Given the description of an element on the screen output the (x, y) to click on. 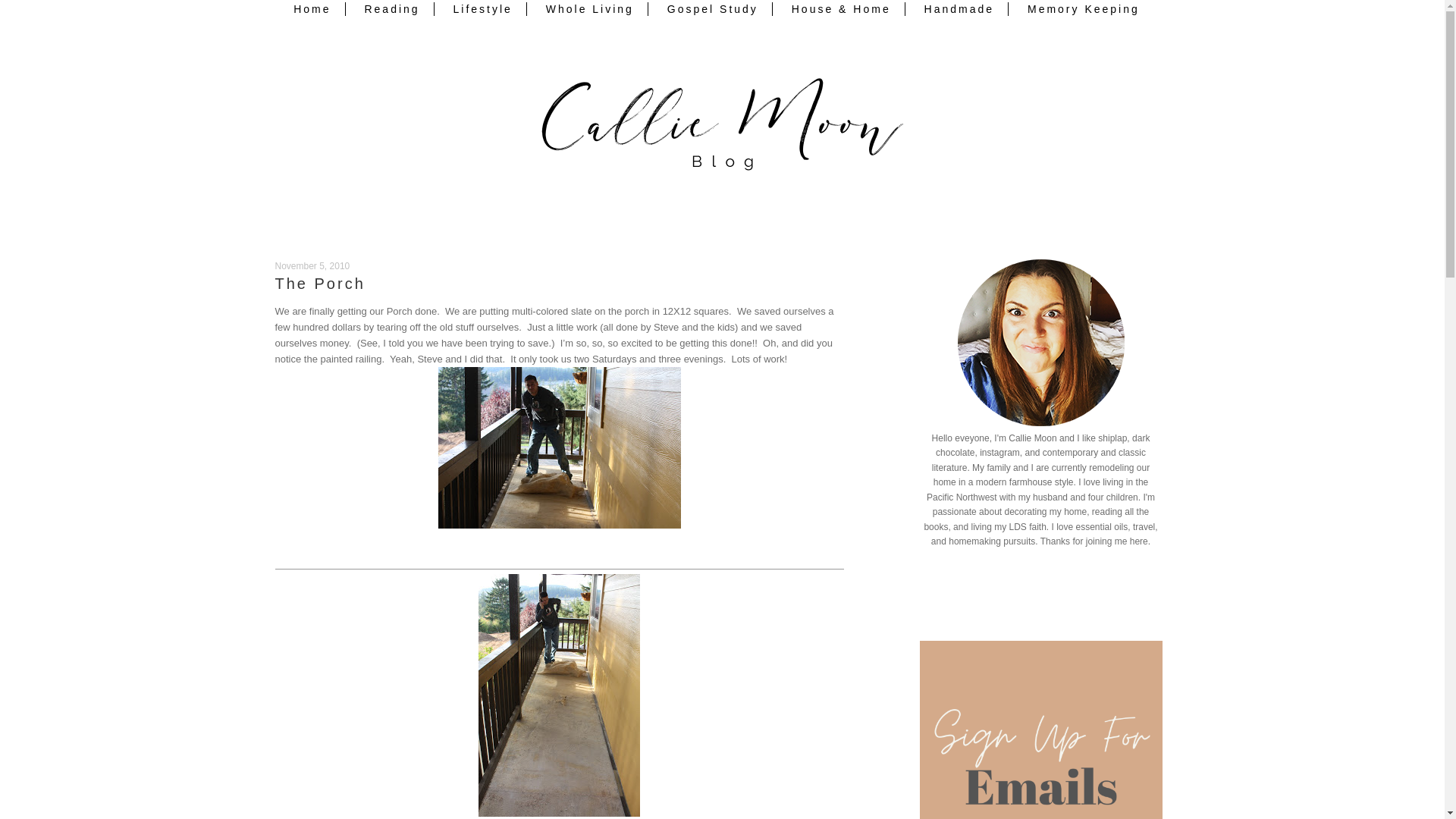
Home (312, 8)
Reading (391, 8)
Whole Living (589, 8)
Gospel Study (713, 8)
Lifestyle (483, 8)
Handmade (960, 8)
